Given the description of an element on the screen output the (x, y) to click on. 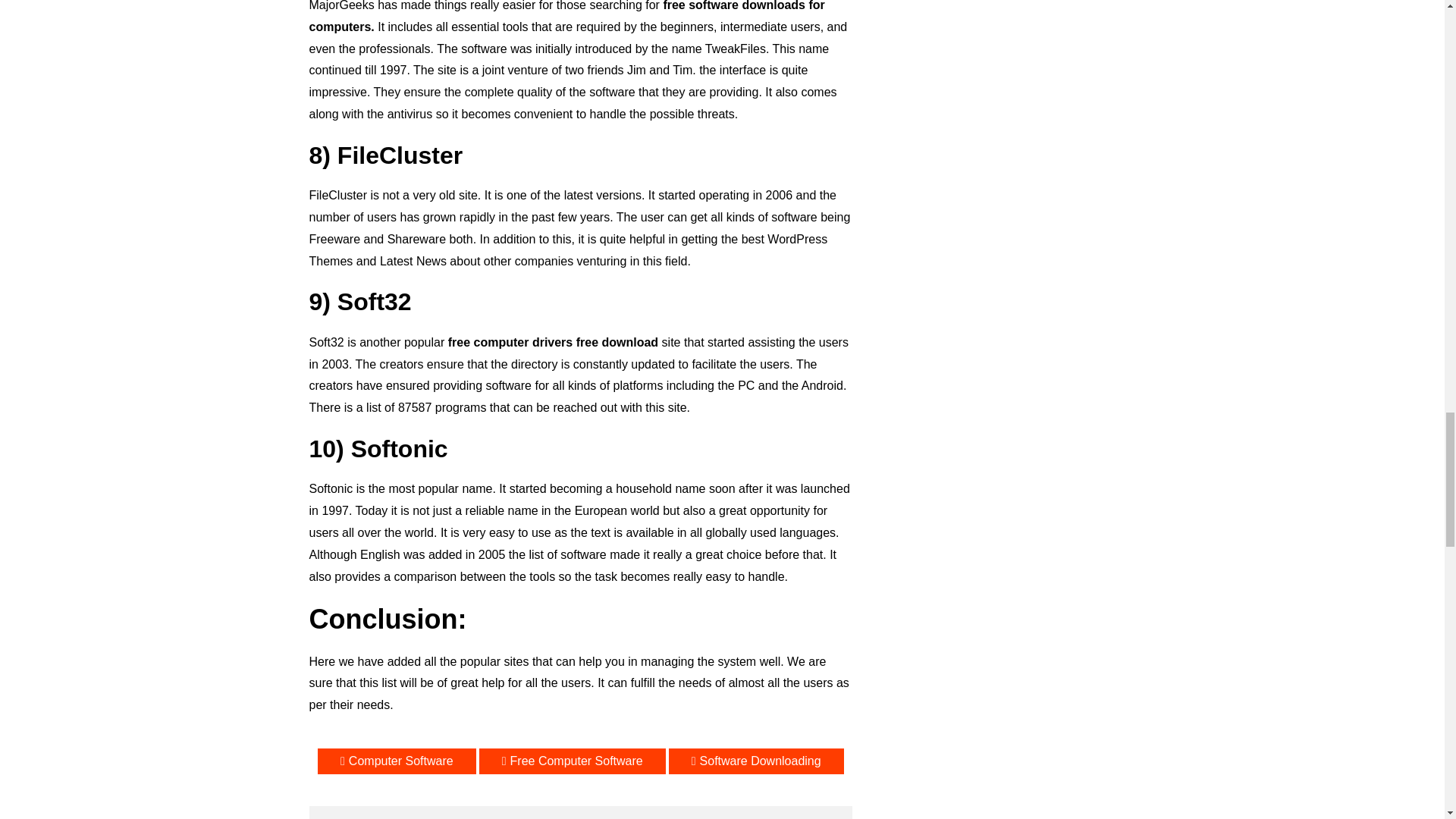
Software Downloading (756, 760)
Free Computer Software (572, 760)
Computer Software (396, 760)
